Given the description of an element on the screen output the (x, y) to click on. 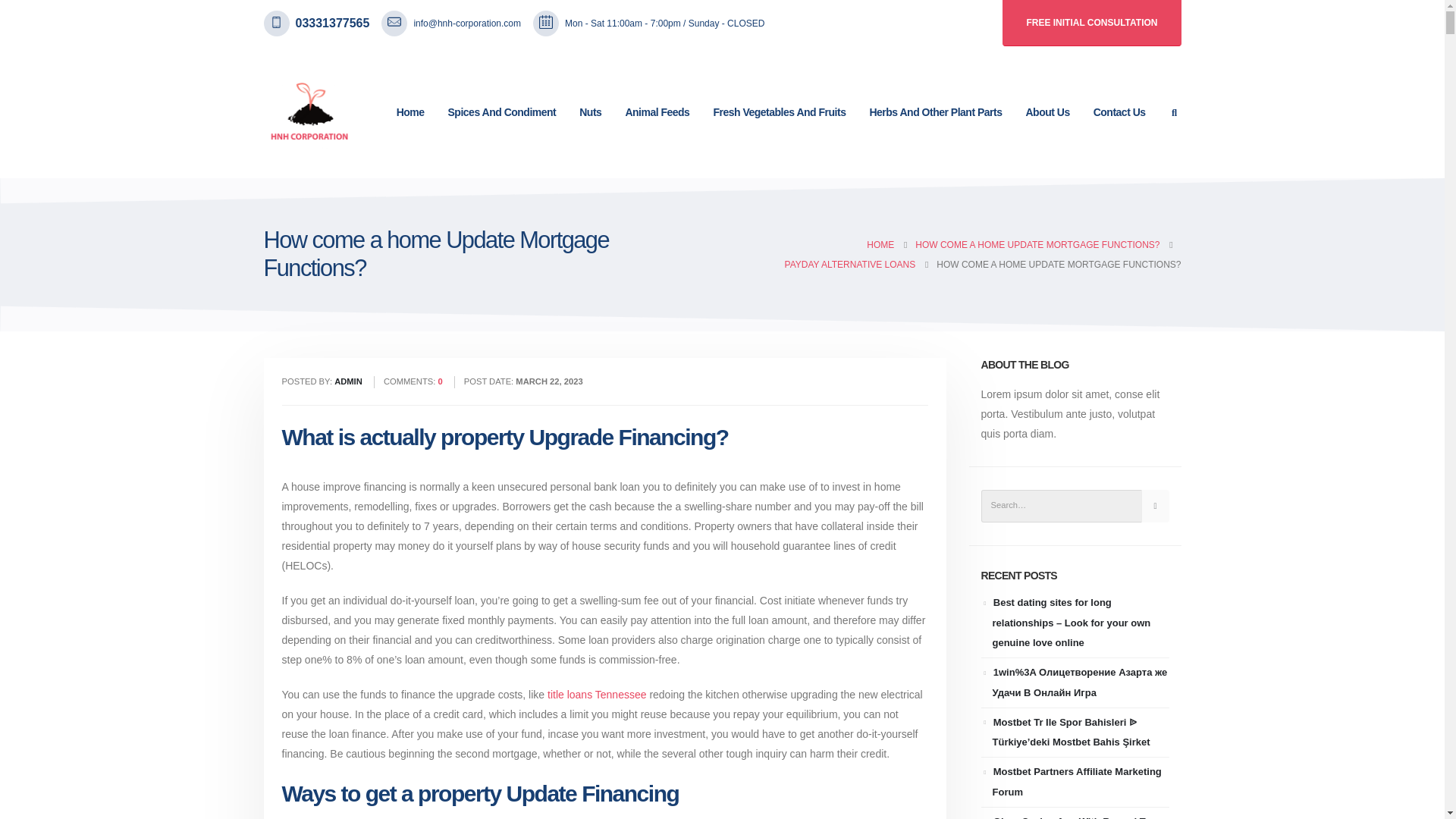
FREE INITIAL CONSULTATION (1091, 22)
HNH Corporation - Nature Provides, We Deliver (309, 112)
Go to Home Page (879, 244)
Animal Feeds (656, 111)
Fresh Vegetables And Fruits (779, 111)
Contact Us (1119, 111)
03331377565 (332, 23)
Spices And Condiment (501, 111)
Herbs And Other Plant Parts (935, 111)
